Given the description of an element on the screen output the (x, y) to click on. 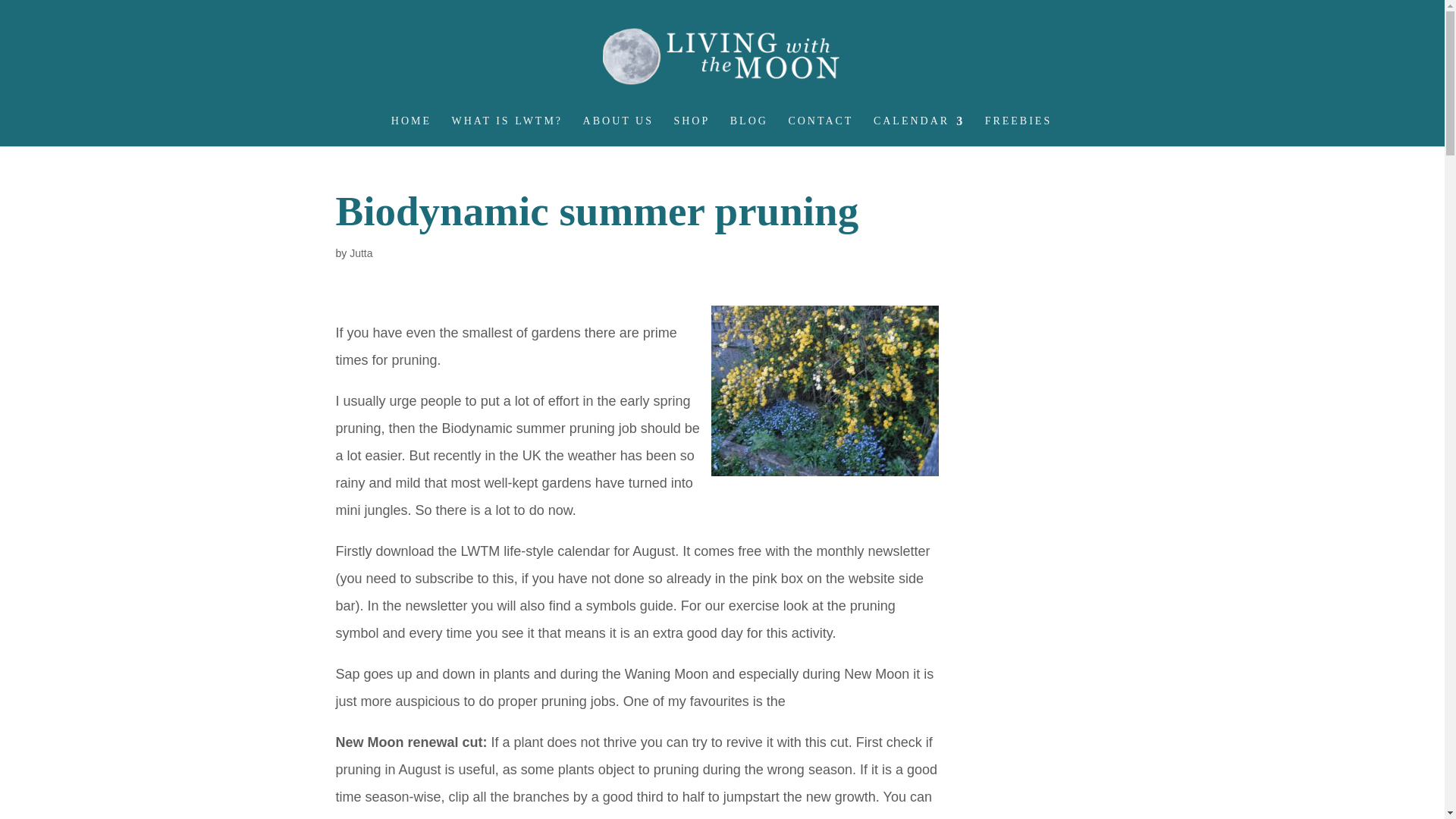
CONTACT (820, 131)
SHOP (691, 131)
FREEBIES (1018, 131)
BLOG (749, 131)
Jutta (360, 253)
ABOUT US (618, 131)
CALENDAR (918, 131)
HOME (410, 131)
Posts by Jutta (360, 253)
WHAT IS LWTM? (507, 131)
